Given the description of an element on the screen output the (x, y) to click on. 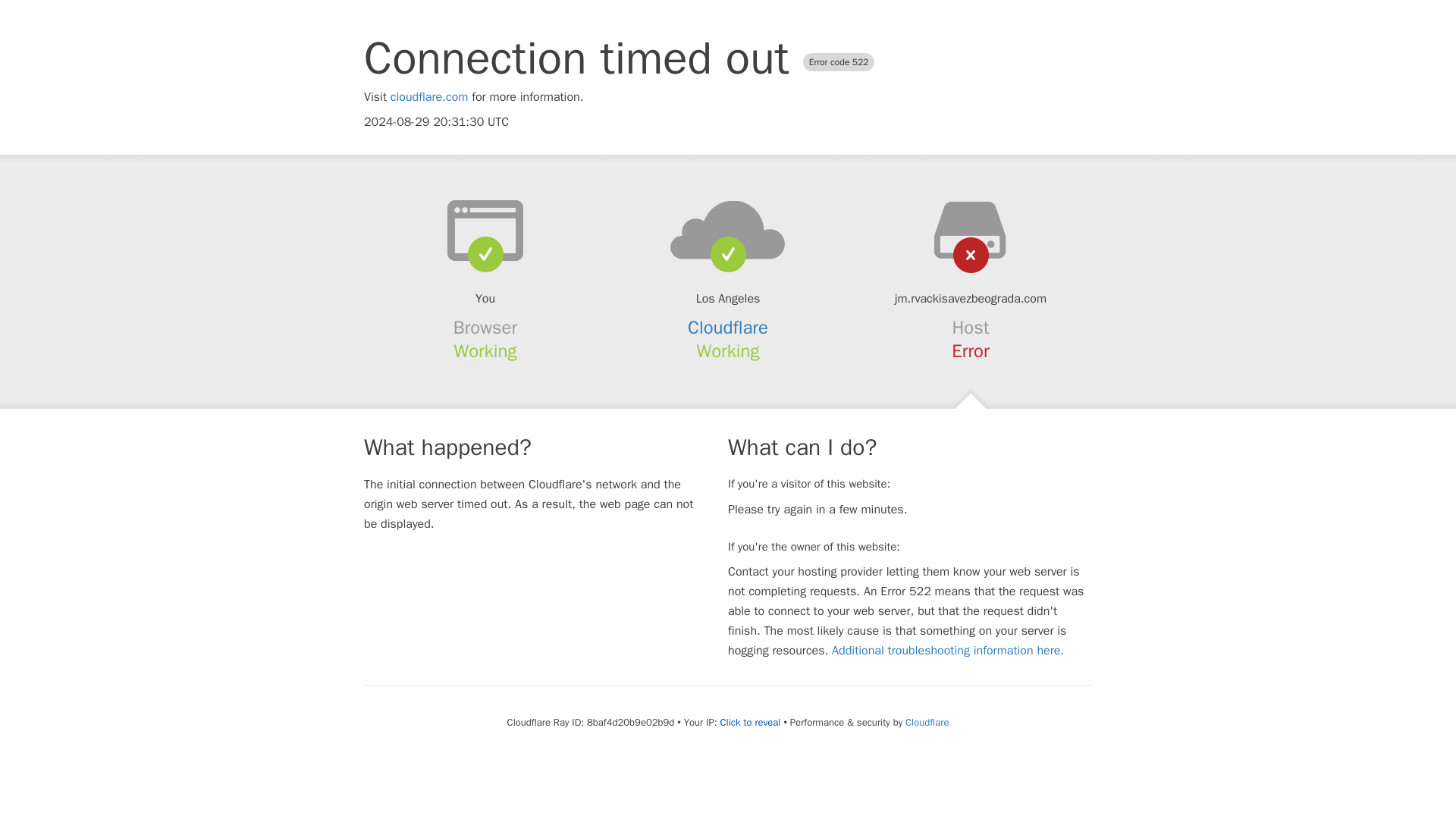
Cloudflare (927, 721)
cloudflare.com (429, 96)
Click to reveal (750, 722)
Additional troubleshooting information here. (947, 650)
Cloudflare (727, 327)
